Given the description of an element on the screen output the (x, y) to click on. 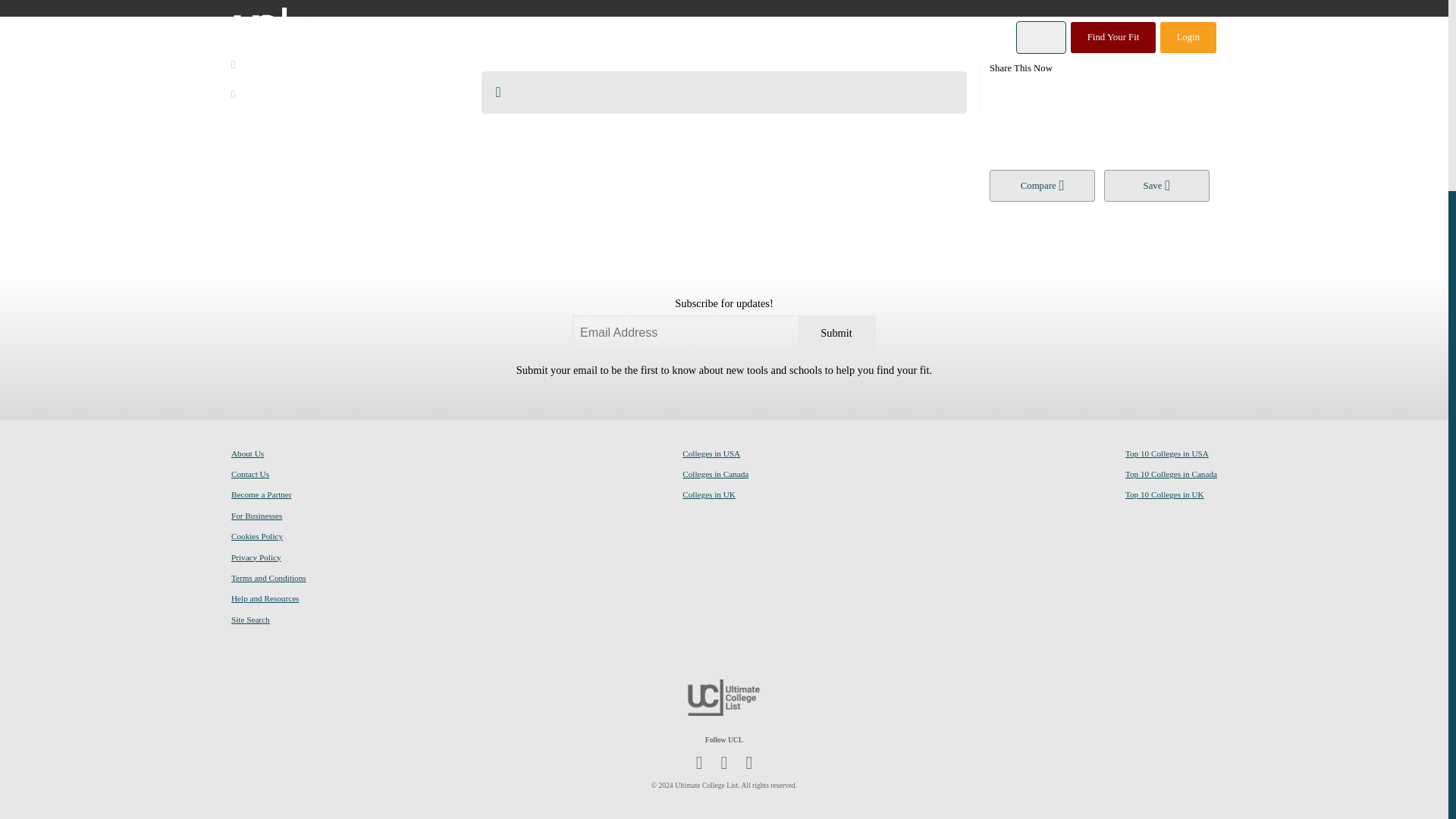
Help and Resources (264, 597)
Top 10 Colleges in UK (1164, 494)
For Businesses (256, 515)
Contact Us (250, 474)
Colleges in UK (708, 494)
Cookies Policy (256, 536)
Terms and Conditions (268, 577)
Colleges in Canada (715, 474)
Site Search (250, 619)
Top 10 Colleges in USA (1166, 453)
